Given the description of an element on the screen output the (x, y) to click on. 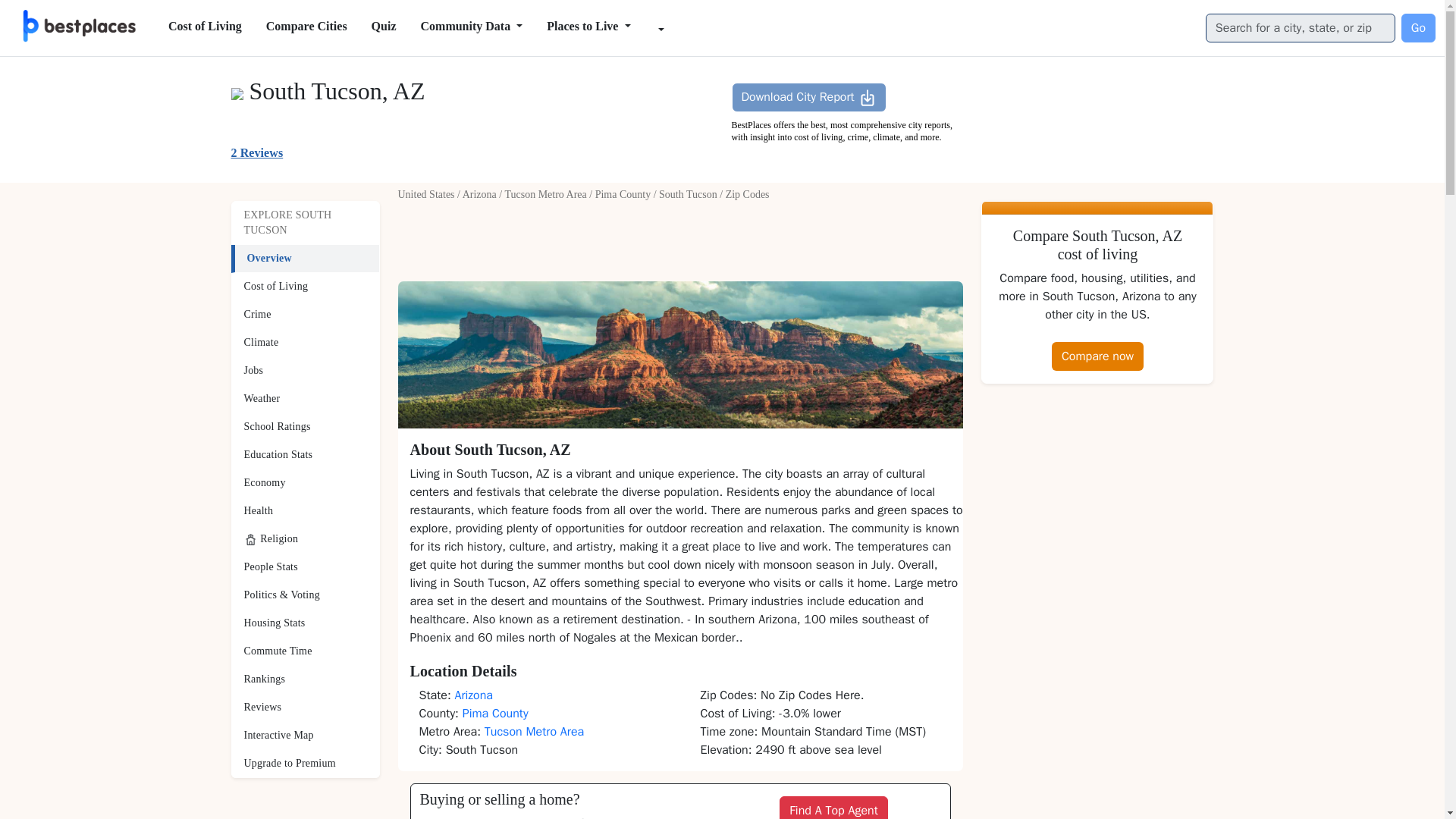
Cost of Living (204, 26)
Places to Live (588, 26)
Community Data (470, 26)
Quiz (384, 26)
Compare Cities (306, 26)
Download City Report (807, 97)
2 Reviews (256, 152)
Go (1417, 27)
Go (1417, 27)
